Given the description of an element on the screen output the (x, y) to click on. 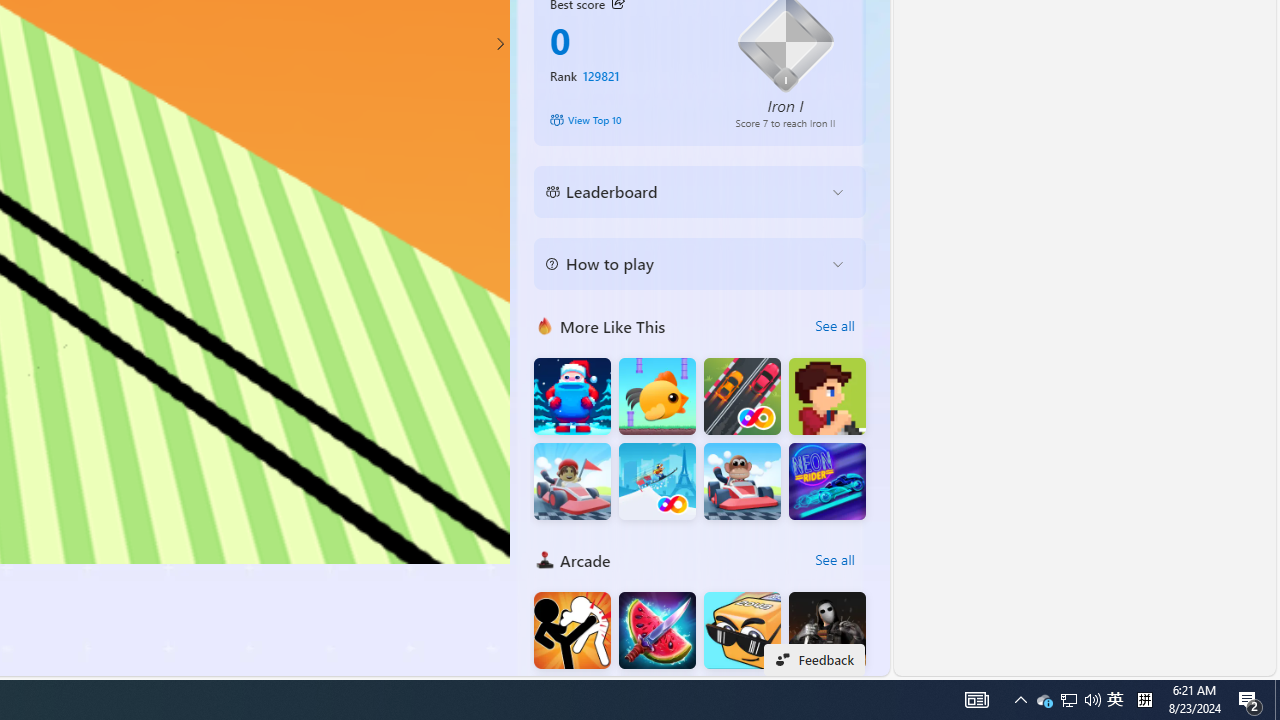
How to play (683, 263)
Neon Rider (827, 481)
Flappy Chicken (657, 396)
Stickman Fighter : Mega Brawl (571, 630)
Feedback (814, 659)
Fruit Chopper (657, 630)
Hunter Hitman (827, 630)
Cubes2048 (742, 630)
View Top 10 (628, 120)
King Kong Kart Racing (742, 481)
See all (834, 560)
More Like This (544, 325)
Arcade (544, 559)
Leaderboard (683, 191)
